Given the description of an element on the screen output the (x, y) to click on. 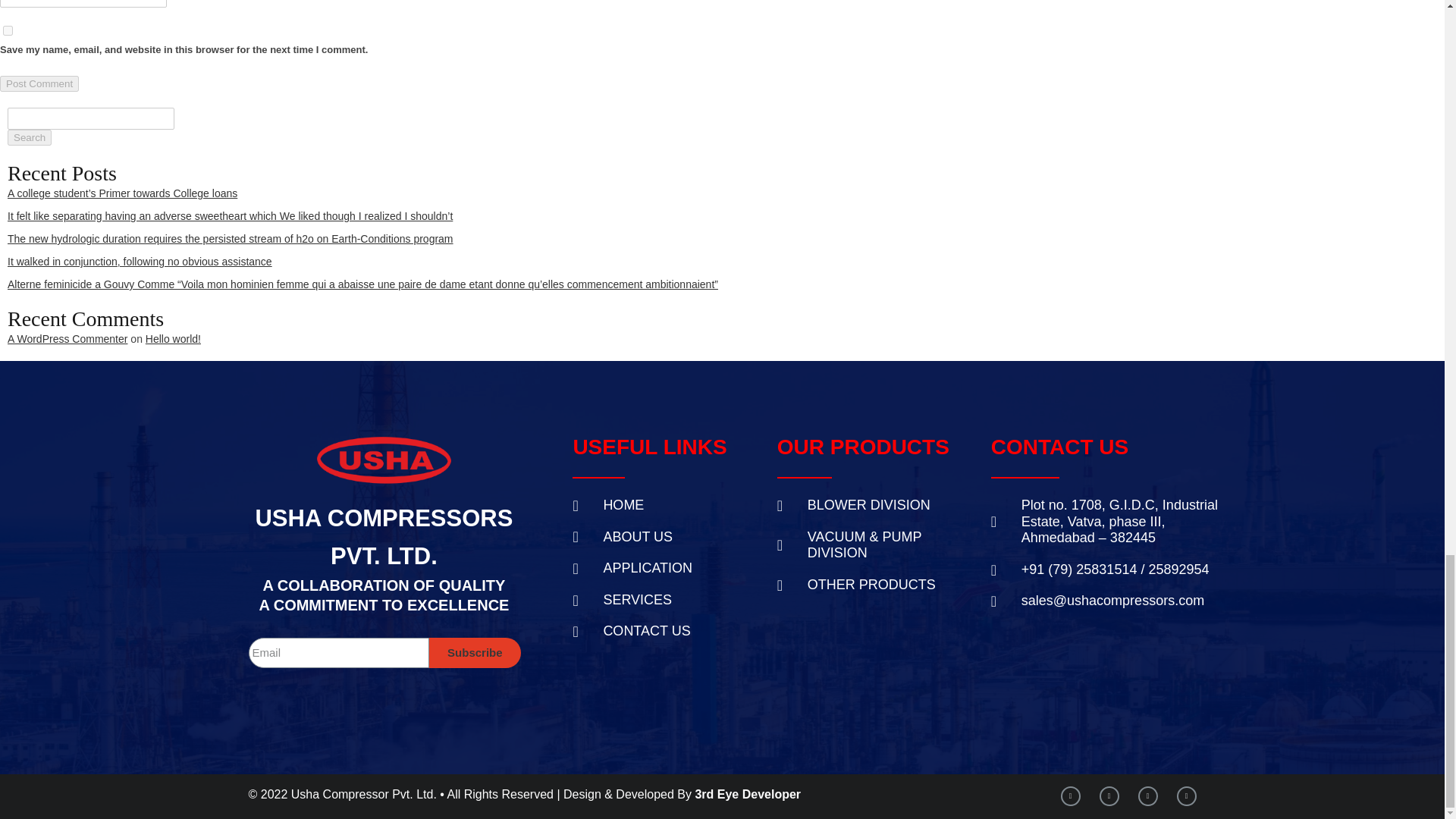
yes (7, 30)
Post Comment (39, 83)
Search (28, 137)
